Given the description of an element on the screen output the (x, y) to click on. 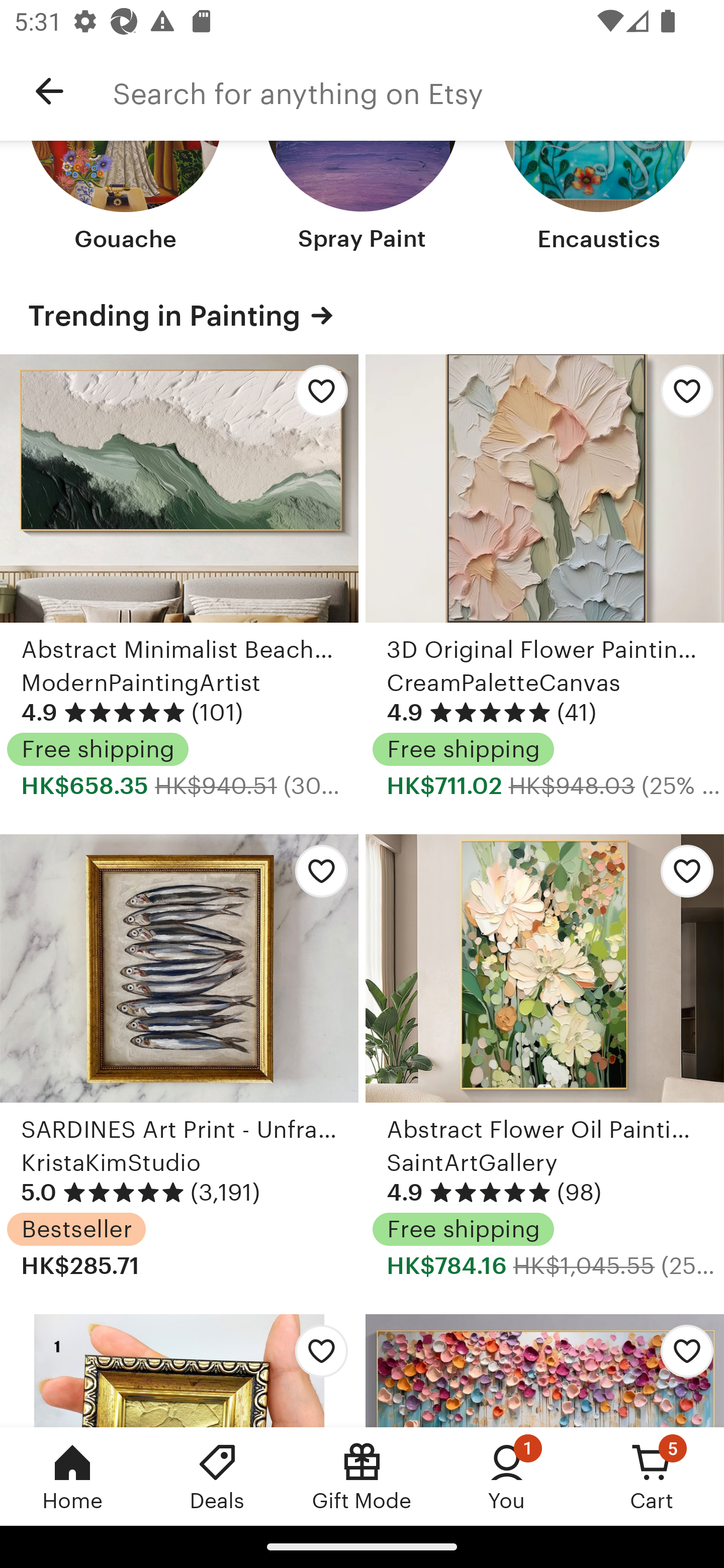
Navigate up (49, 91)
Search for anything on Etsy (418, 91)
Gouache (125, 198)
Spray Paint (361, 198)
Encaustics (598, 198)
Trending in Painting  (361, 315)
Deals (216, 1475)
Gift Mode (361, 1475)
You, 1 new notification You (506, 1475)
Cart, 5 new notifications Cart (651, 1475)
